Given the description of an element on the screen output the (x, y) to click on. 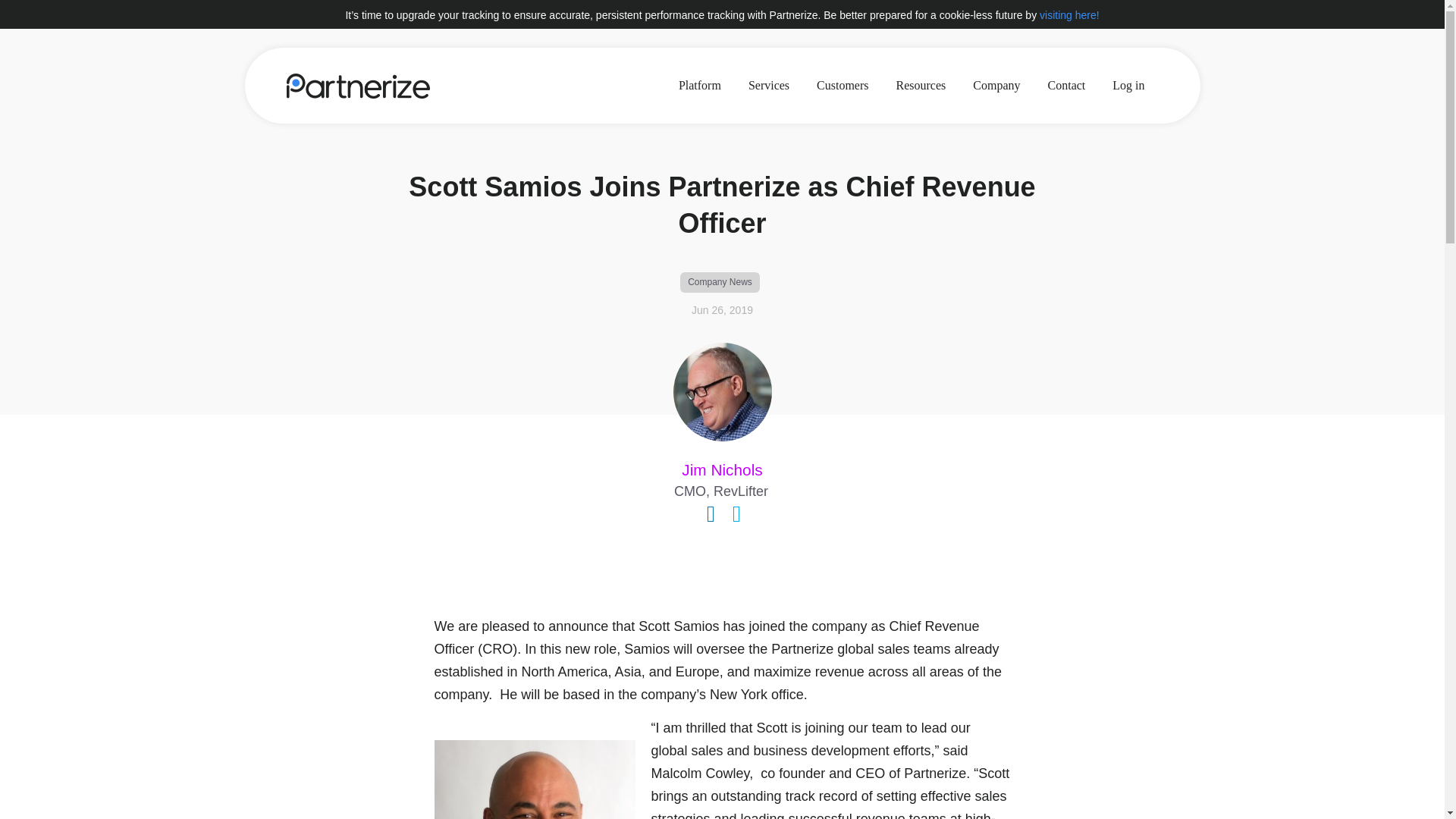
visiting here! (1069, 15)
Partnerize (357, 84)
Customers (842, 85)
Platform (700, 85)
Services (769, 85)
